Given the description of an element on the screen output the (x, y) to click on. 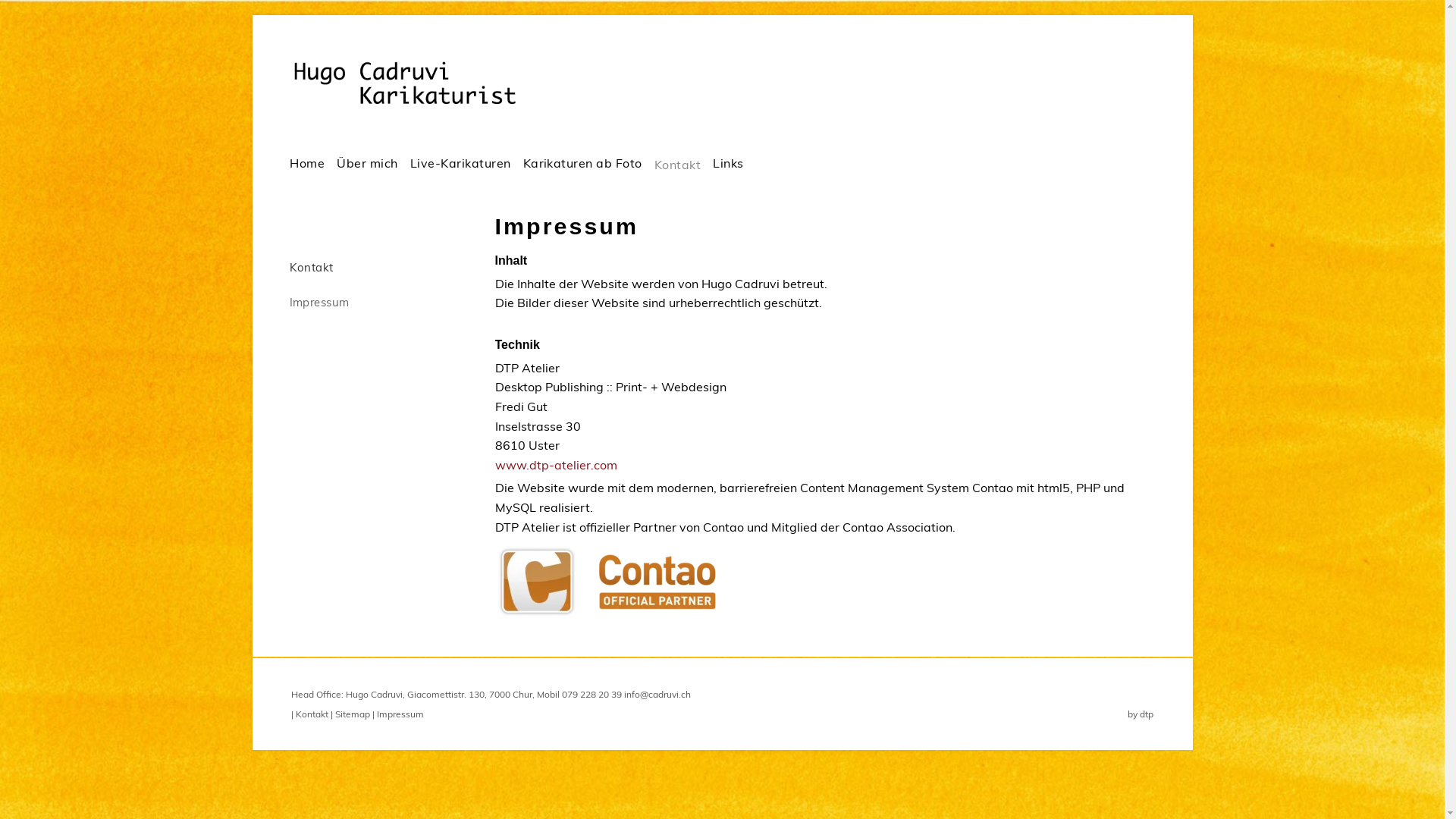
www.dtp-atelier.com Element type: text (555, 464)
Live-Karikaturen Element type: text (460, 162)
Kontakt Element type: text (373, 267)
Kontakt Element type: text (311, 713)
Home Element type: text (306, 162)
by dtp Element type: text (1140, 713)
info@cadruvi.ch Element type: text (657, 693)
Sitemap Element type: text (352, 713)
  Element type: text (285, 338)
Zur Startseite Element type: hover (424, 83)
Impressum Element type: text (399, 713)
Kontakt Element type: text (677, 164)
Links Element type: text (727, 162)
Karikaturen ab Foto Element type: text (582, 162)
  Element type: text (749, 141)
